Given the description of an element on the screen output the (x, y) to click on. 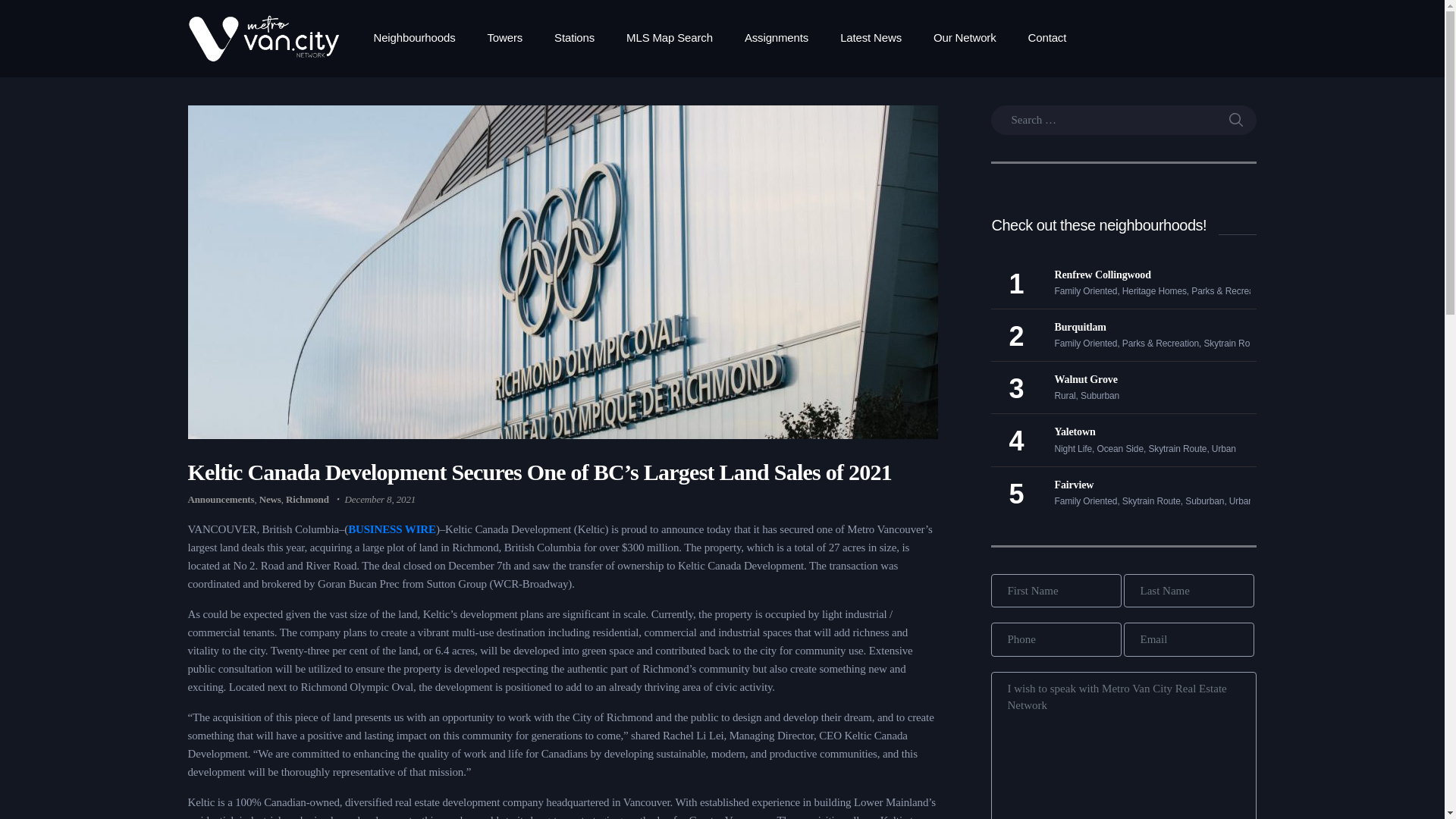
Stations (574, 38)
BUSINESS WIRE (391, 529)
MLS Map Search (669, 38)
Stations (574, 38)
Neighbourhoods (421, 38)
Neighbourhoods (421, 38)
Assignments (776, 38)
Our Network (964, 38)
News (270, 499)
Latest News (870, 38)
Announcements (220, 499)
Contact (1047, 38)
Towers (504, 38)
Towers (504, 38)
December 8, 2021 (380, 499)
